Given the description of an element on the screen output the (x, y) to click on. 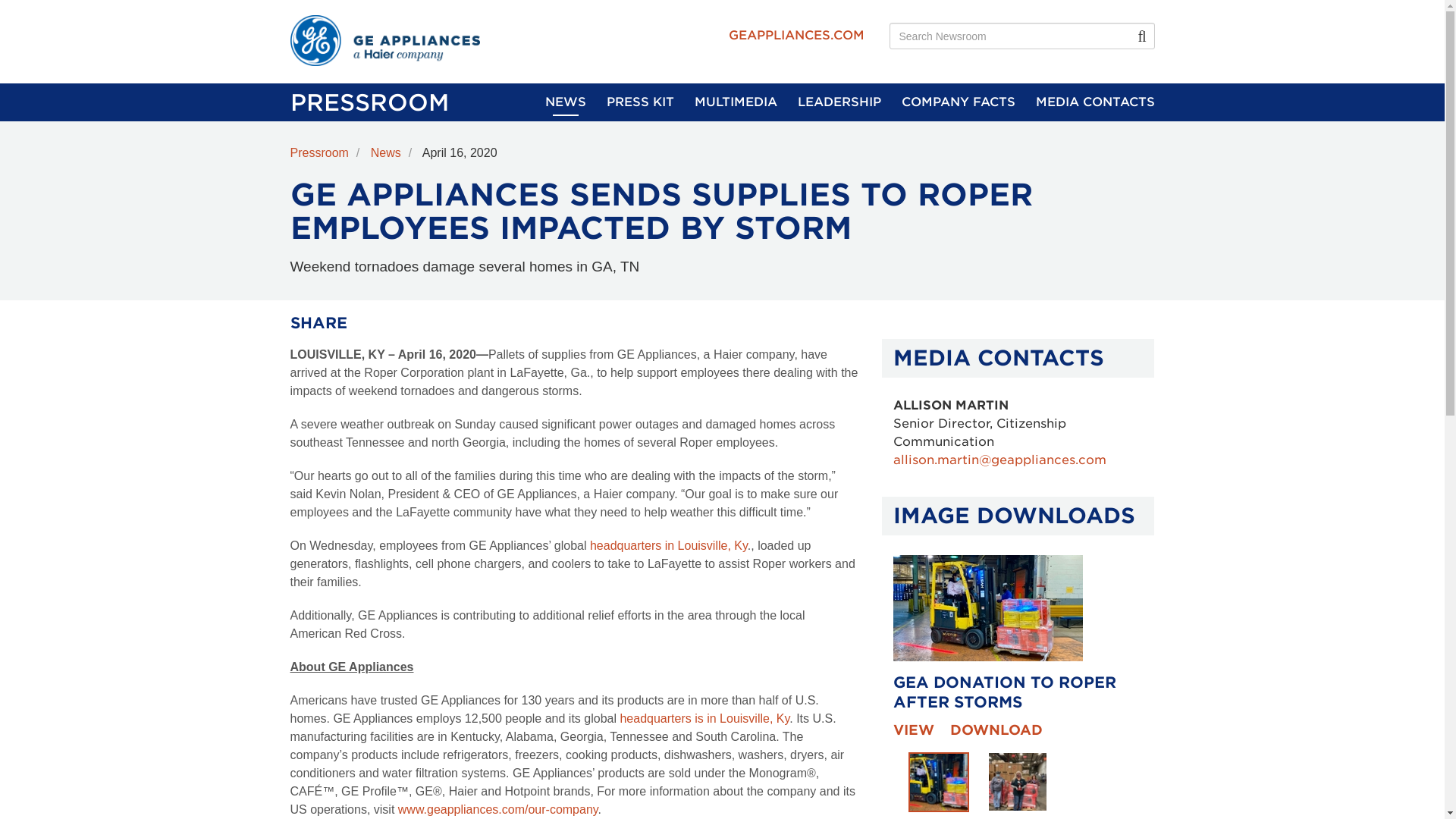
GEAPPLIANCES.COM (795, 34)
News (395, 152)
COMPANY FACTS (957, 102)
GEA Donation to Roper After Storms (938, 782)
MULTIMEDIA (735, 102)
Pressroom (327, 152)
DOWNLOAD (995, 729)
MEDIA CONTACTS (1094, 102)
VIEW (913, 729)
Roper Team Receives Generators After Storms (1017, 781)
LEADERSHIP (838, 102)
GEA Donation to Roper After Storms (988, 607)
NEWS (564, 102)
PRESSROOM (368, 102)
headquarters is in Louisville, Ky (704, 717)
